Given the description of an element on the screen output the (x, y) to click on. 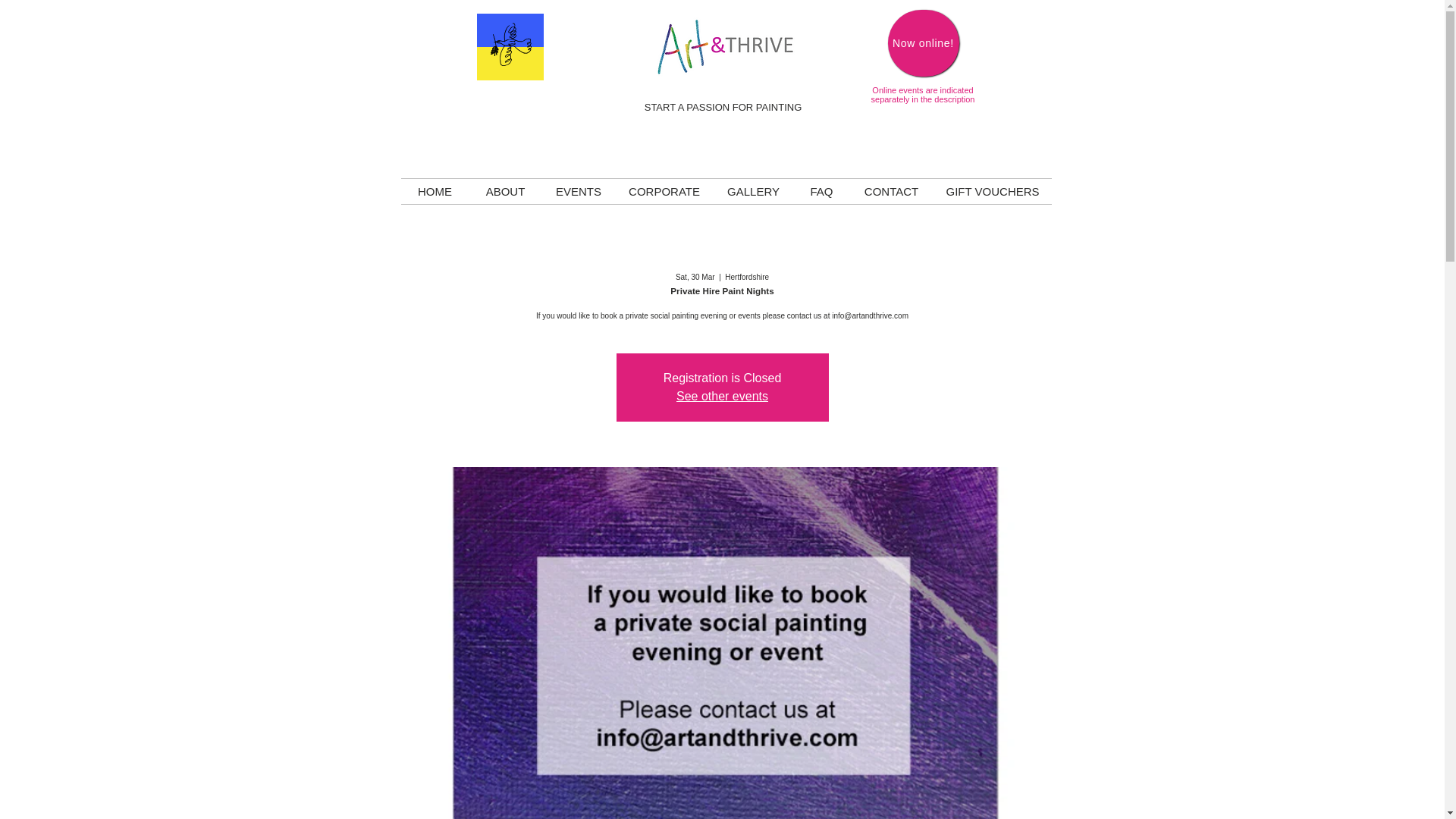
GALLERY (753, 191)
CORPORATE (664, 191)
CONTACT (890, 191)
EVENTS (577, 191)
ABOUT (504, 191)
GIFT VOUCHERS (992, 191)
Now online! (922, 42)
FAQ (820, 191)
See other events (722, 395)
START A PASSION FOR PAINTING (723, 107)
HOME (434, 191)
